Given the description of an element on the screen output the (x, y) to click on. 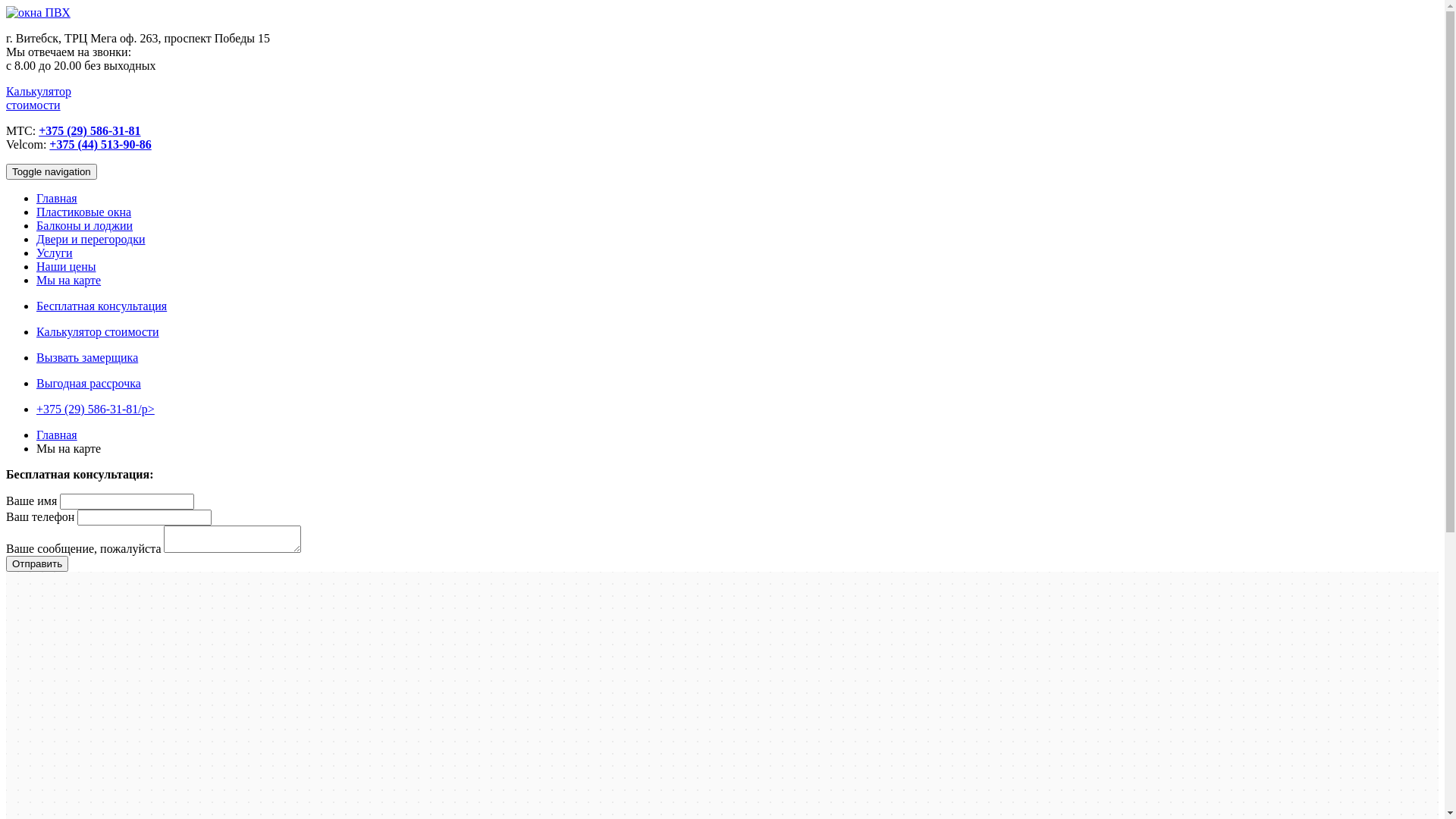
+375 (29) 586-31-81 Element type: text (89, 130)
+375 (29) 586-31-81/p> Element type: text (95, 408)
+375 (44) 513-90-86 Element type: text (99, 144)
Toggle navigation Element type: text (51, 171)
